Given the description of an element on the screen output the (x, y) to click on. 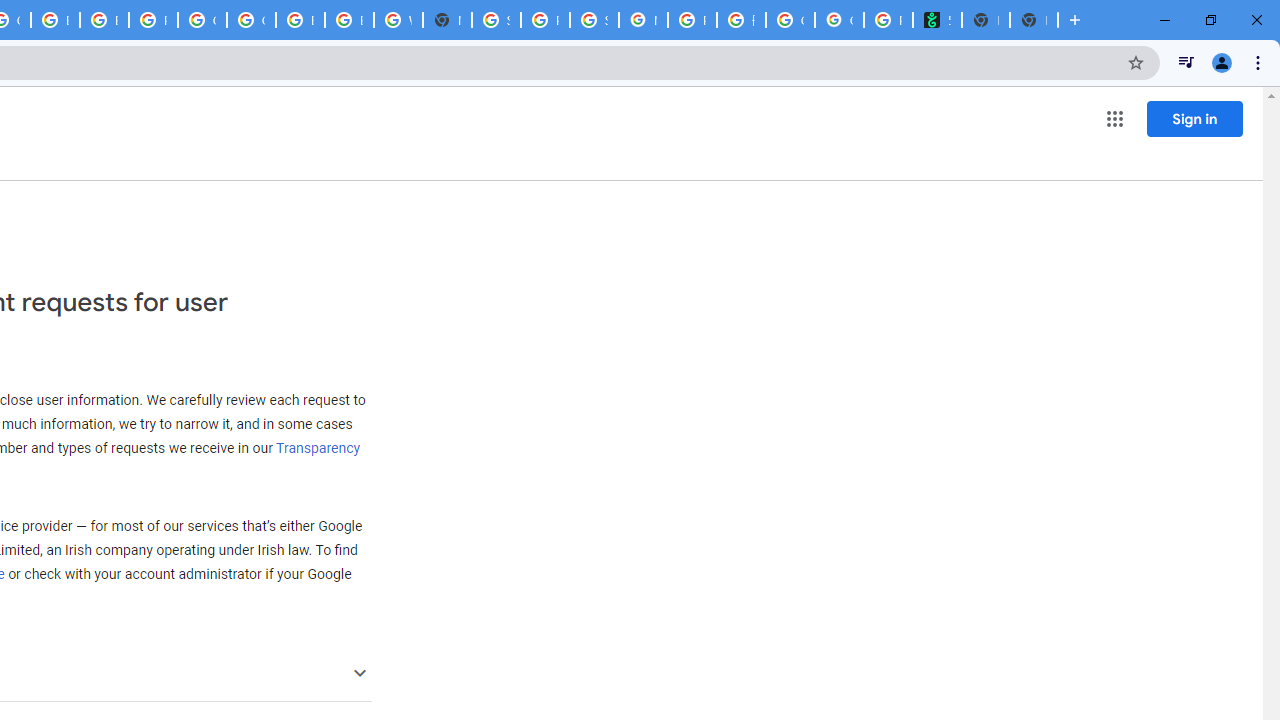
Google Cloud Platform (251, 20)
Sign in - Google Accounts (496, 20)
New Tab (1033, 20)
